Given the description of an element on the screen output the (x, y) to click on. 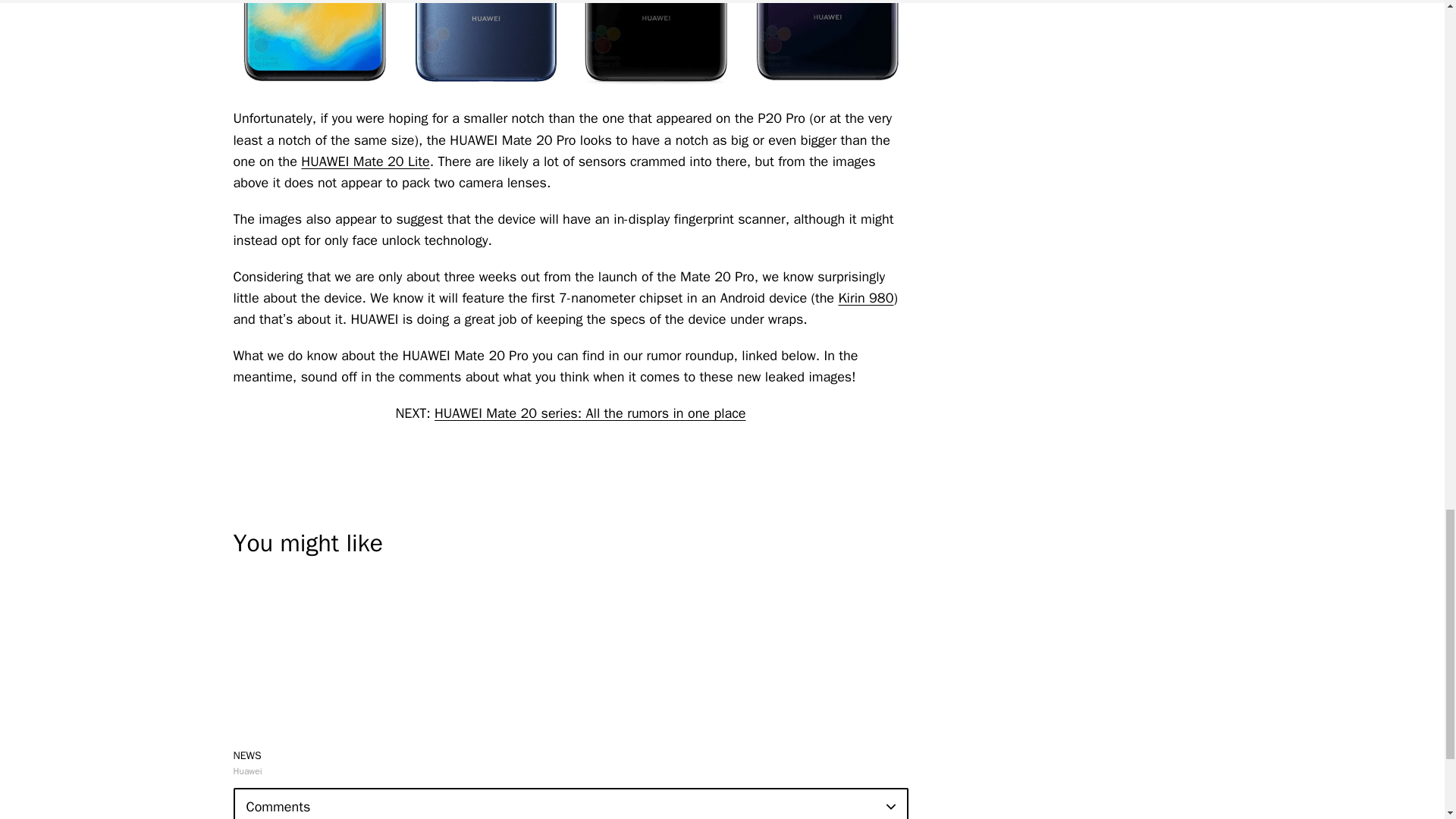
Huawei (247, 770)
HUAWEI Mate 20 Pro (656, 46)
HUAWEI Mate 20 Pro (484, 46)
NEWS (247, 755)
HUAWEI Mate 20 Lite (365, 161)
HUAWEI Mate 20 Pro (314, 46)
Kirin 980 (865, 297)
HUAWEI Mate 20 Pro (825, 46)
HUAWEI Mate 20 series: All the rumors in one place (589, 412)
Comments (570, 803)
